Given the description of an element on the screen output the (x, y) to click on. 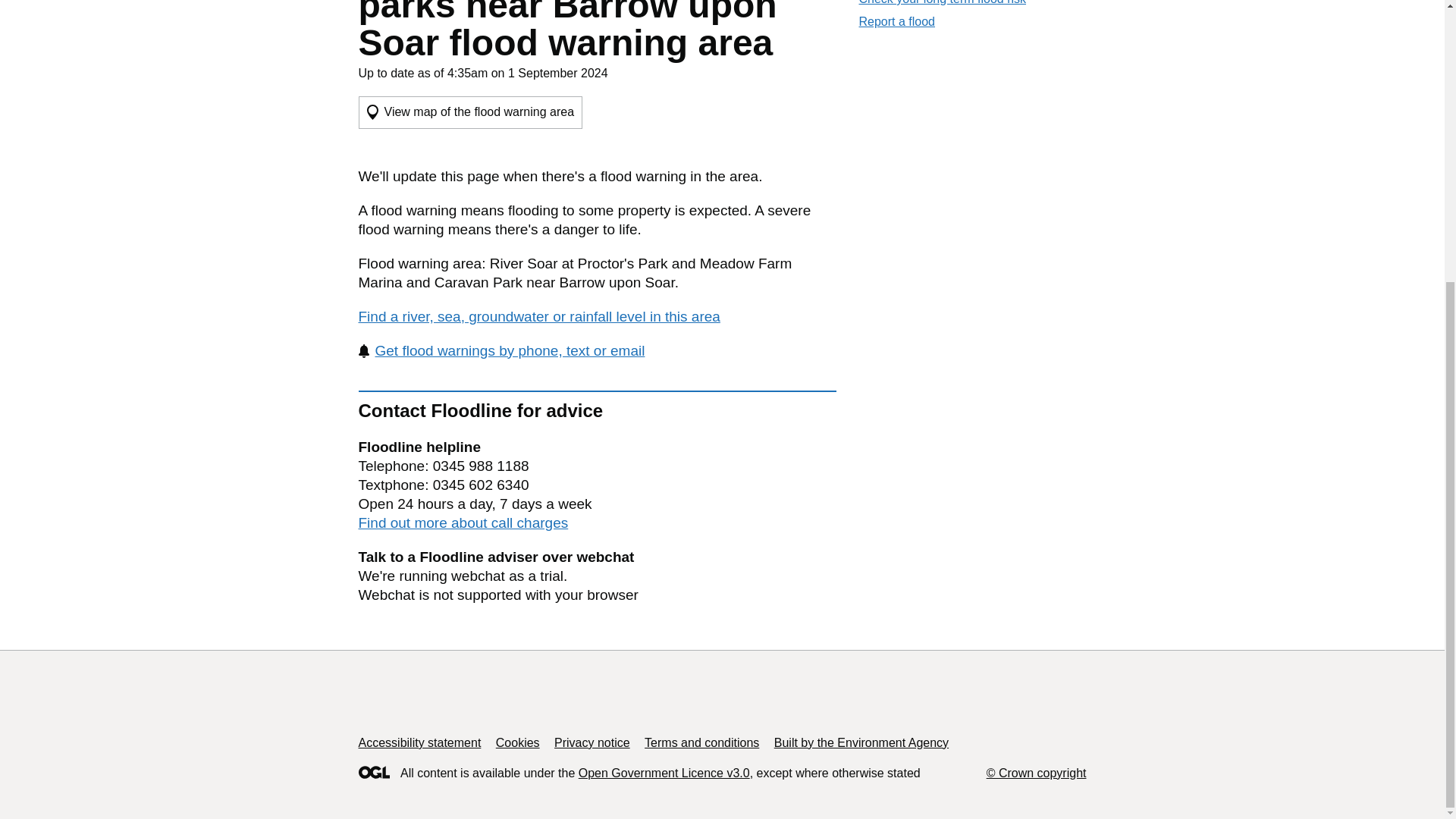
Privacy notice (592, 742)
Report a flood (896, 21)
Get flood warnings by phone, text or email (501, 350)
Terms and conditions (701, 742)
Cookies (518, 742)
Accessibility statement (419, 742)
Find out more about call charges (462, 522)
Open Government Licence v3.0 (663, 772)
Built by the Environment Agency (861, 742)
